Given the description of an element on the screen output the (x, y) to click on. 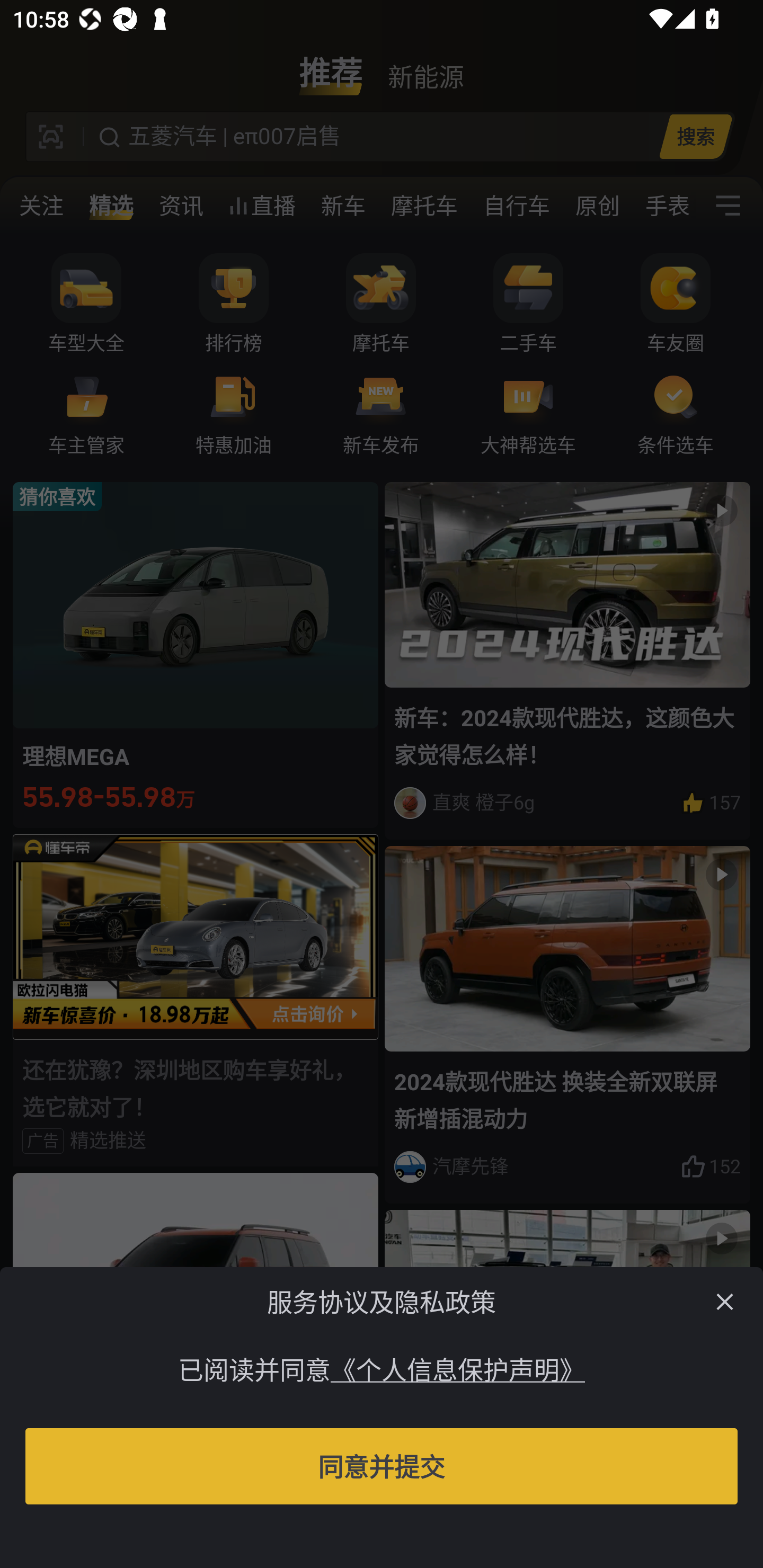
 (724, 1300)
同意并提交 (381, 1465)
